Given the description of an element on the screen output the (x, y) to click on. 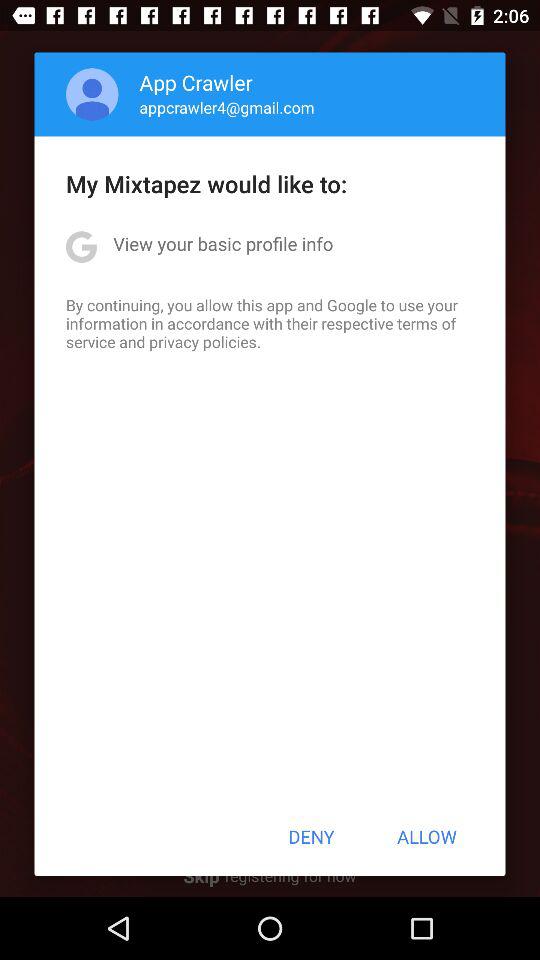
select the item below the my mixtapez would icon (223, 243)
